Given the description of an element on the screen output the (x, y) to click on. 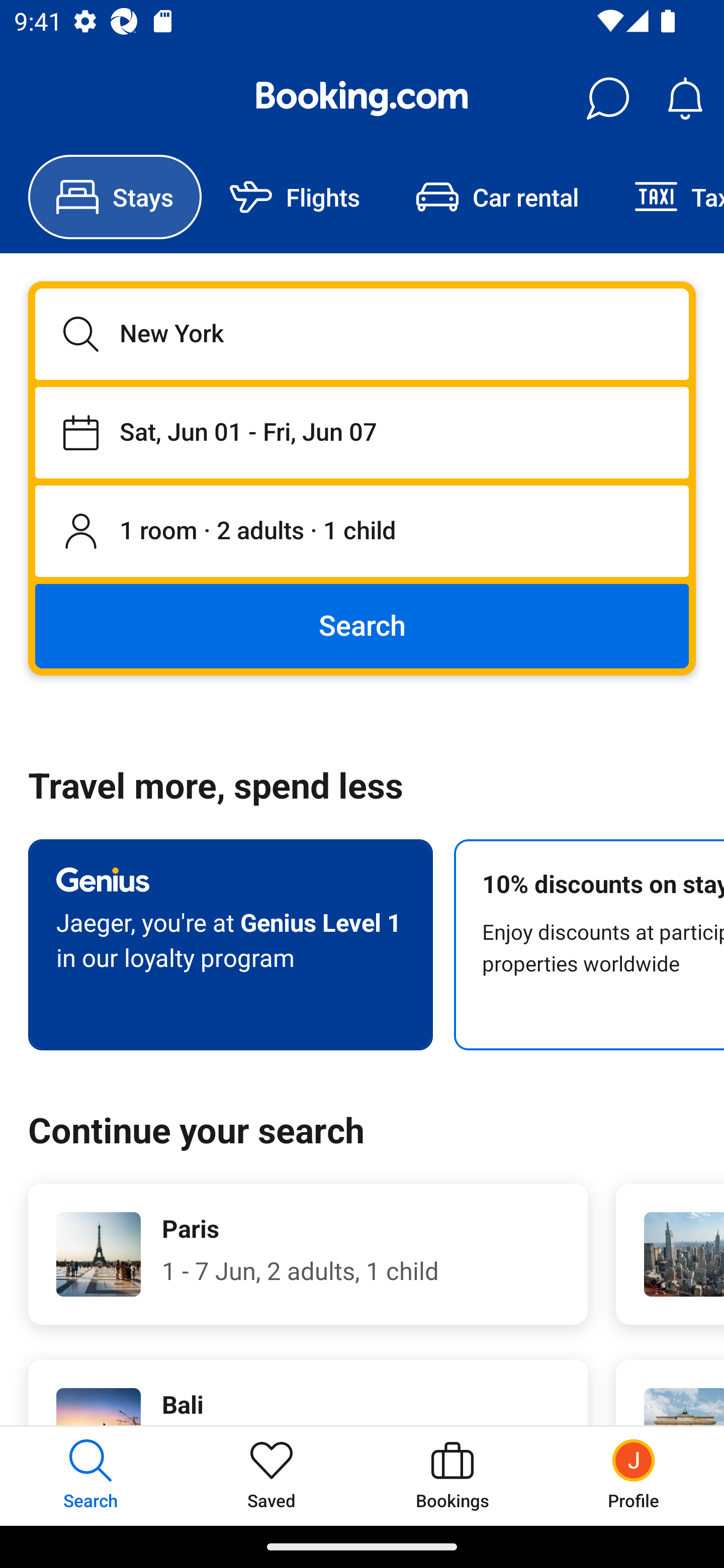
Messages (607, 98)
Notifications (685, 98)
Stays (114, 197)
Flights (294, 197)
Car rental (497, 197)
Taxi (665, 197)
New York (361, 333)
Staying from Sat, Jun 01 until Fri, Jun 07 (361, 432)
1 room, 2 adults, 1 child (361, 531)
Search (361, 625)
Paris 1 - 7 Jun, 2 adults, 1 child (307, 1253)
Saved (271, 1475)
Bookings (452, 1475)
Profile (633, 1475)
